Given the description of an element on the screen output the (x, y) to click on. 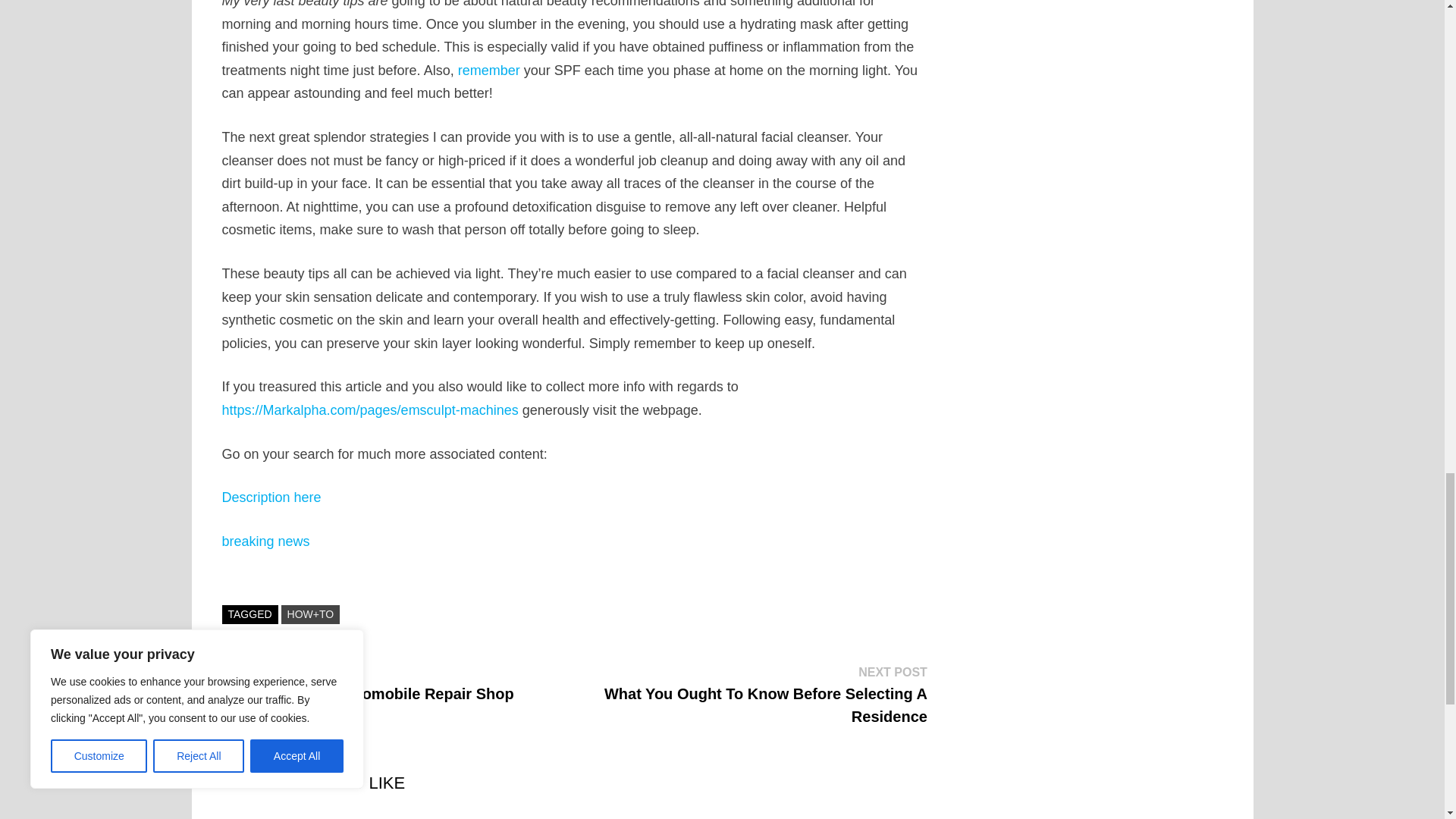
Description here (270, 497)
remember (488, 70)
breaking news (264, 540)
